Given the description of an element on the screen output the (x, y) to click on. 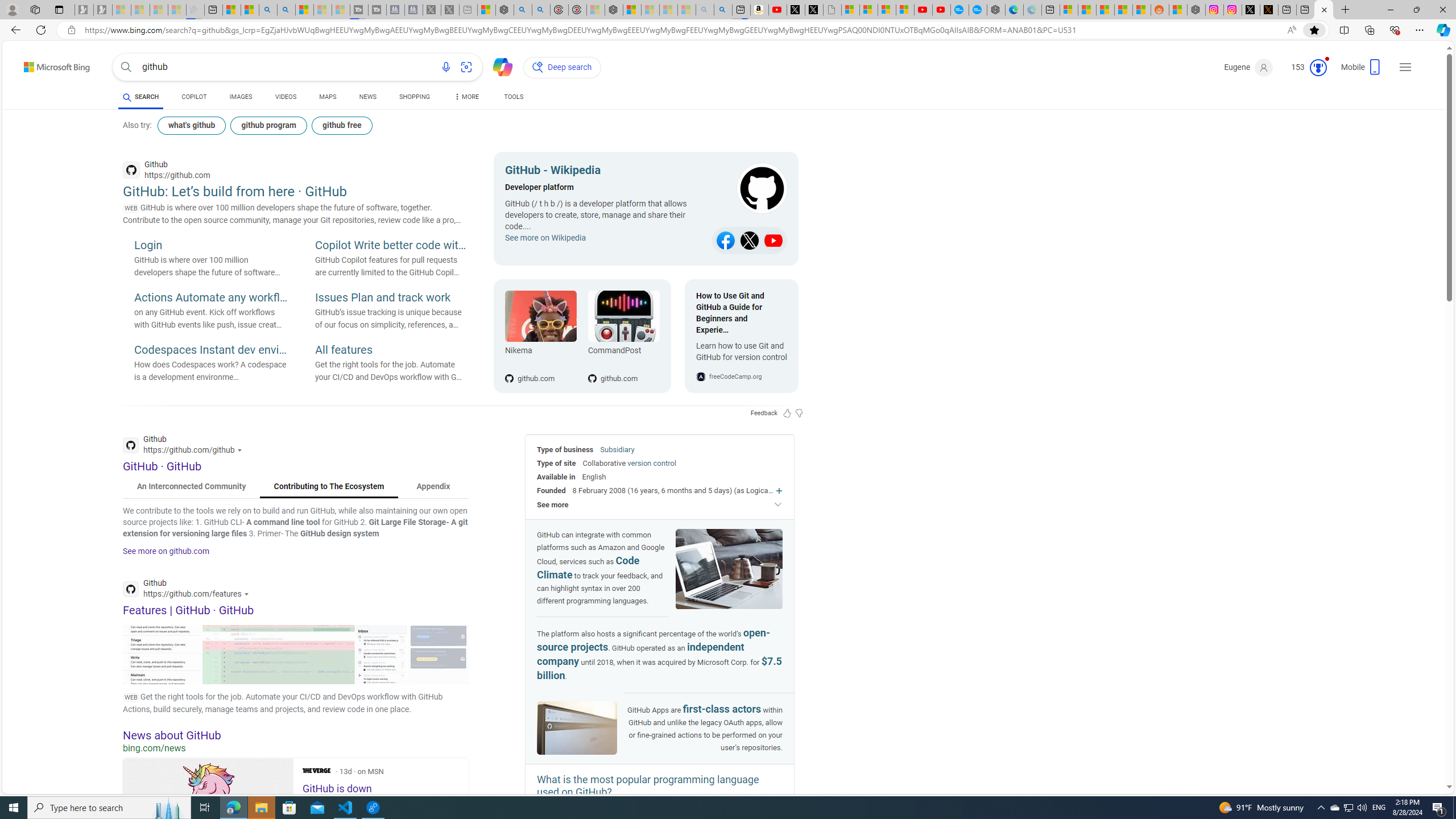
poe - Search (523, 9)
NEWS (367, 98)
version control (651, 462)
Back to Bing search (50, 64)
Global Web Icon (700, 376)
